Given the description of an element on the screen output the (x, y) to click on. 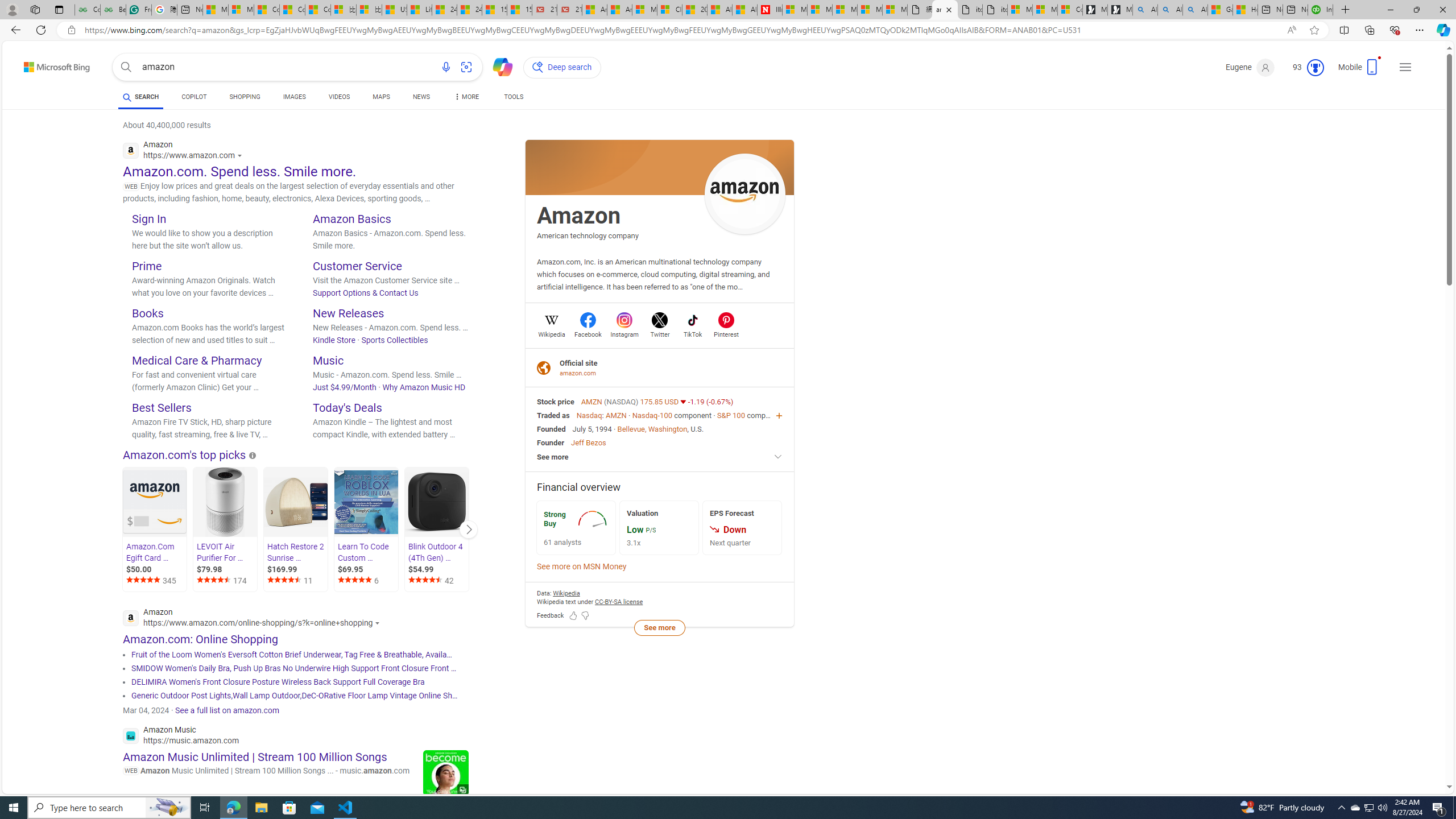
Mobile (1360, 70)
See more images of Amazon (745, 194)
See more (660, 456)
amazon.com (578, 373)
Search using voice (445, 66)
Microsoft Start Gaming (1119, 9)
USA TODAY - MSN (394, 9)
